Given the description of an element on the screen output the (x, y) to click on. 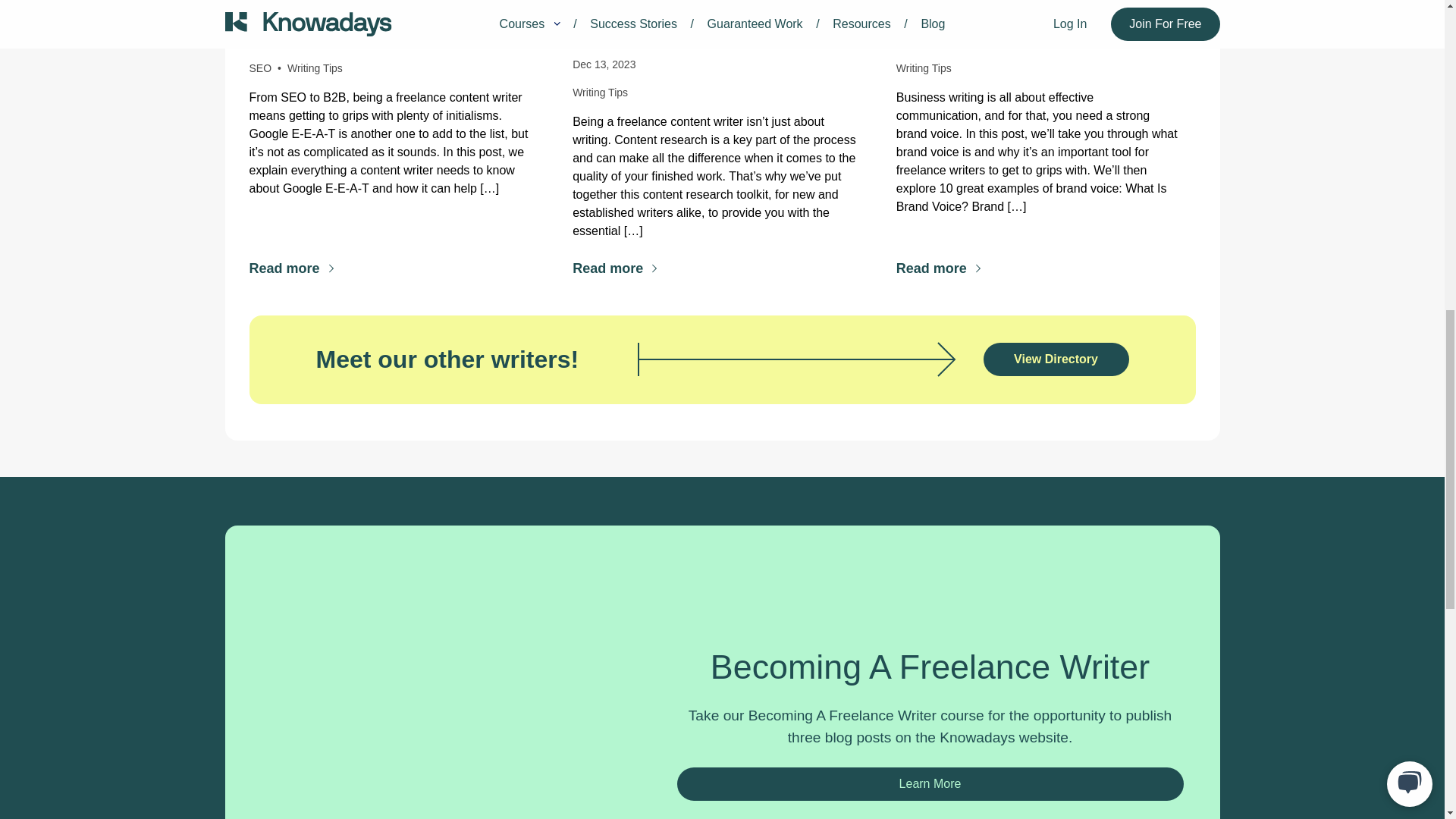
View Directory (1055, 359)
Learn More (929, 783)
Read more (938, 268)
Read more (615, 268)
Read more (290, 268)
